Given the description of an element on the screen output the (x, y) to click on. 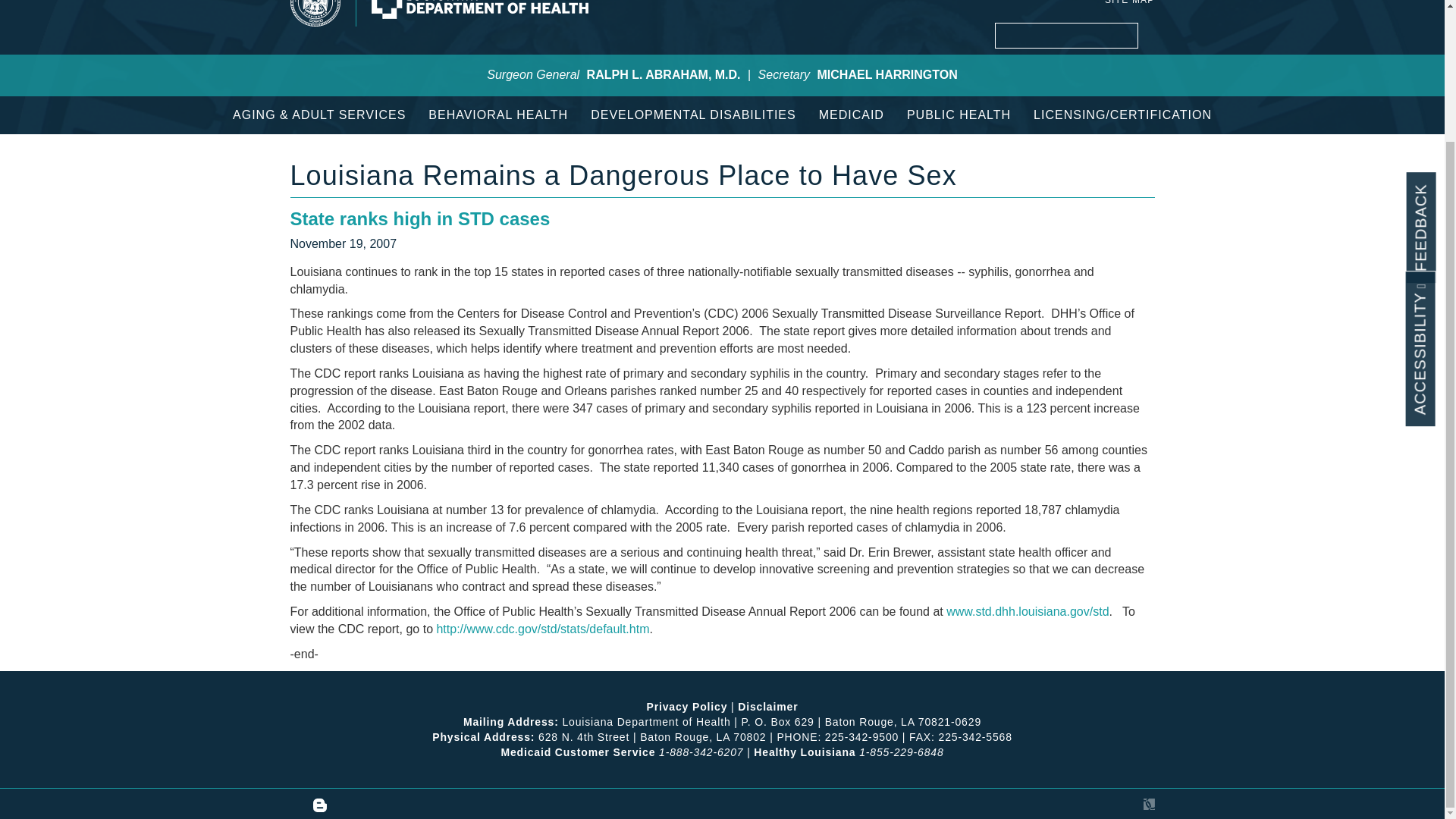
BEHAVIORAL HEALTH (497, 115)
MEDICAID (851, 115)
SITE MAP (1129, 2)
DEVELOPMENTAL DISABILITIES (693, 115)
